Given the description of an element on the screen output the (x, y) to click on. 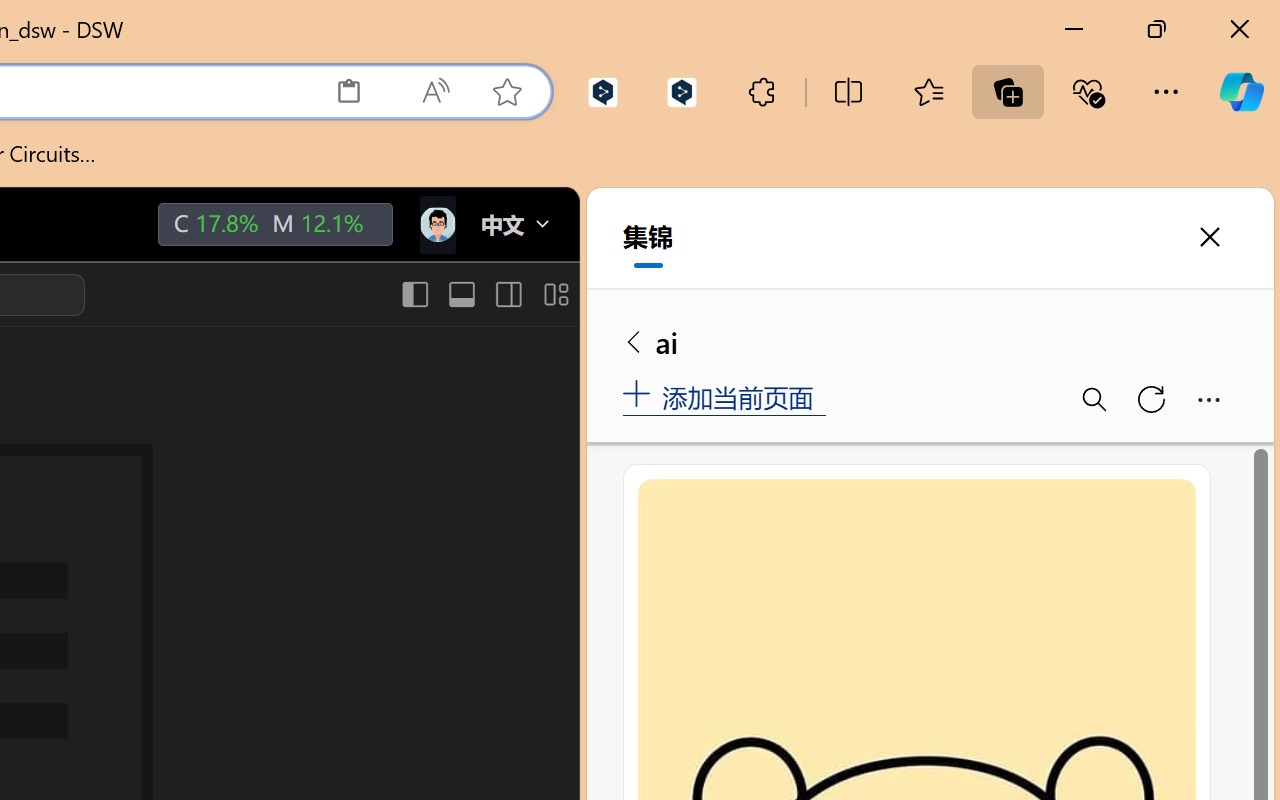
Customize Layout... (553, 294)
icon (436, 224)
icon (436, 220)
